Given the description of an element on the screen output the (x, y) to click on. 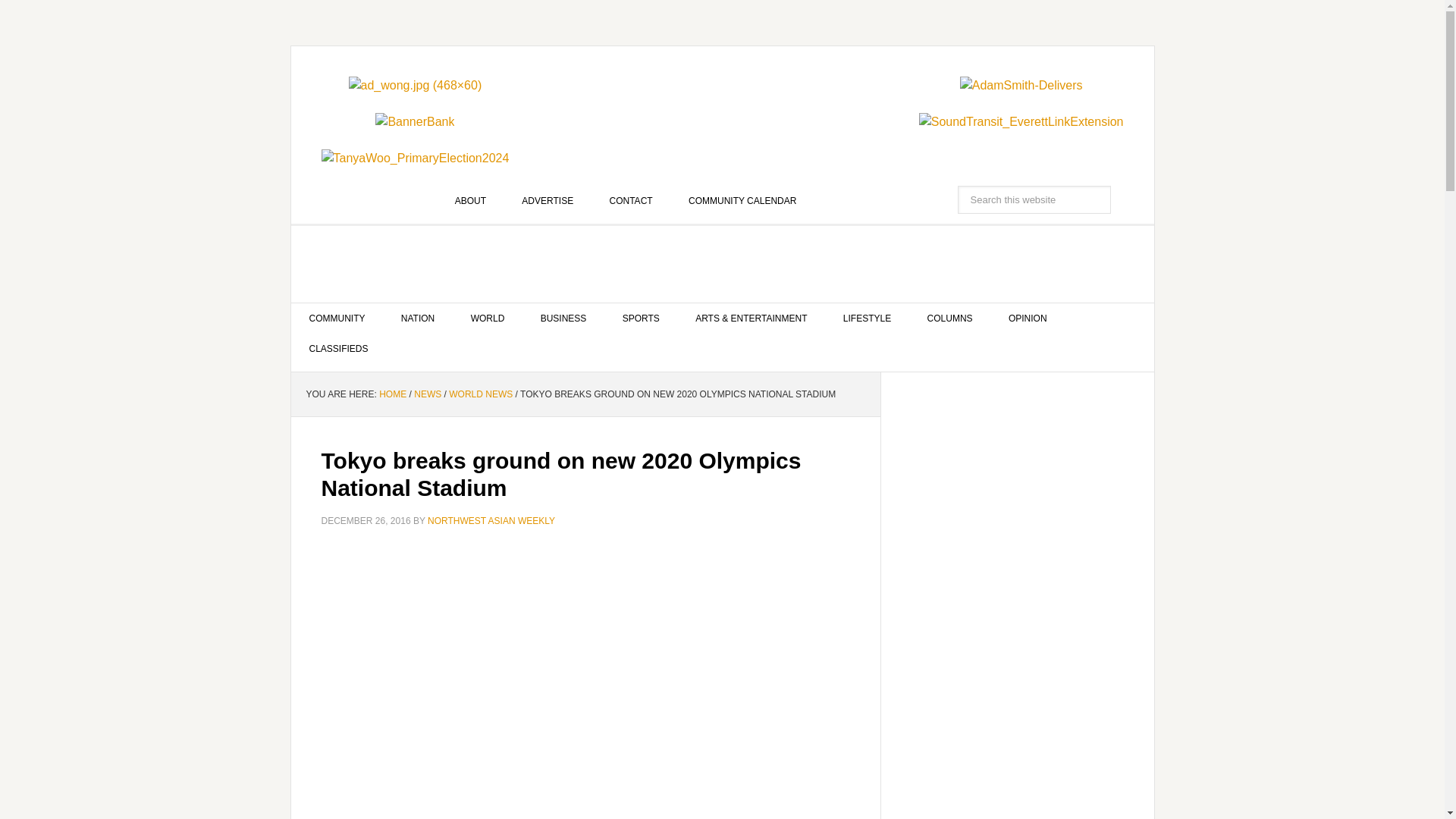
HOME (392, 394)
NATION (417, 318)
LIFESTYLE (866, 318)
SPORTS (641, 318)
COMMUNITY (337, 318)
BUSINESS (563, 318)
OPINION (1027, 318)
CONTACT (631, 200)
COMMUNITY CALENDAR (741, 200)
ADVERTISE (547, 200)
WORLD (487, 318)
COLUMNS (949, 318)
CLASSIFIEDS (339, 348)
